Given the description of an element on the screen output the (x, y) to click on. 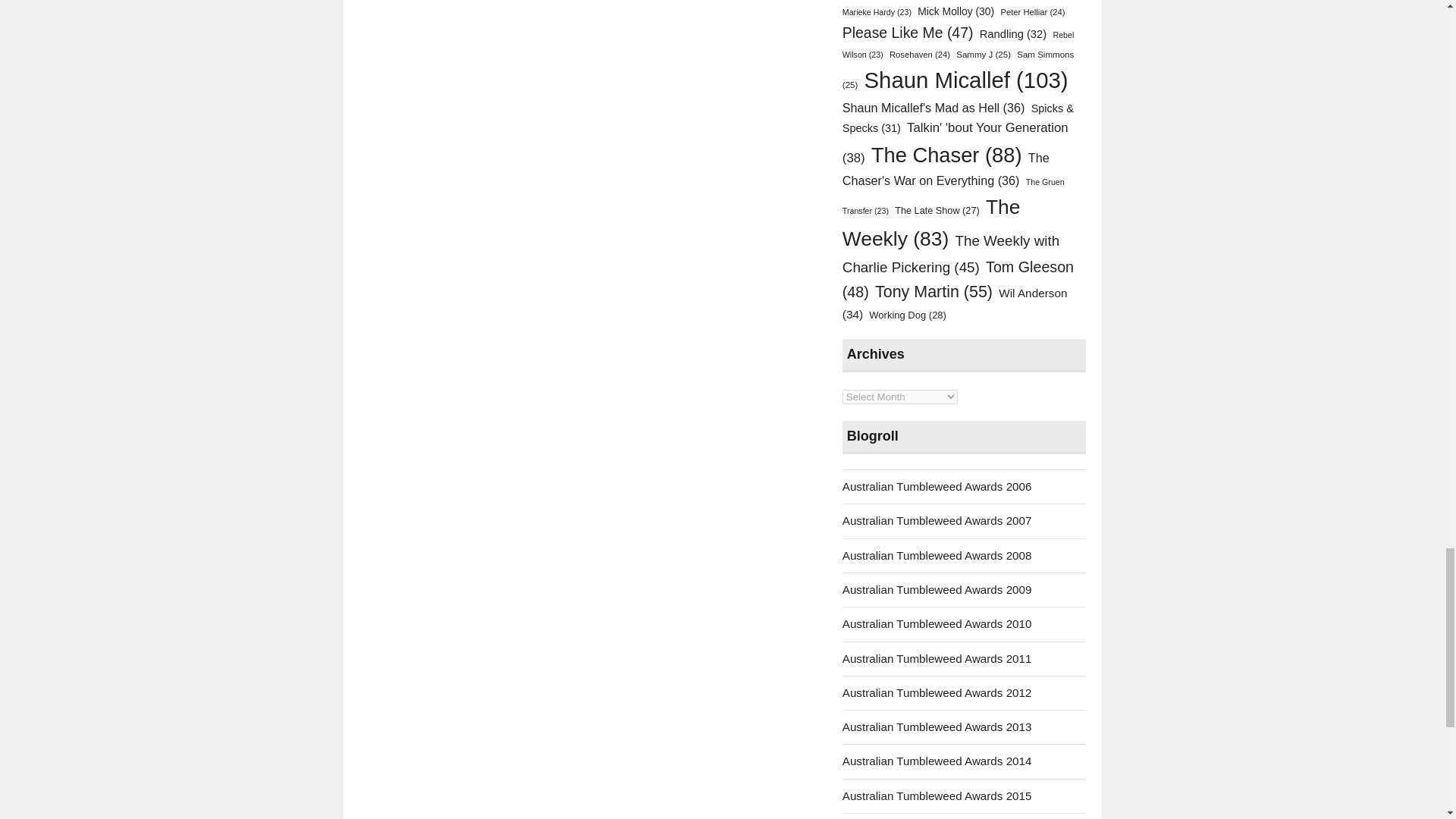
Australian Tumbleweed Awards 2014 (937, 760)
